Given the description of an element on the screen output the (x, y) to click on. 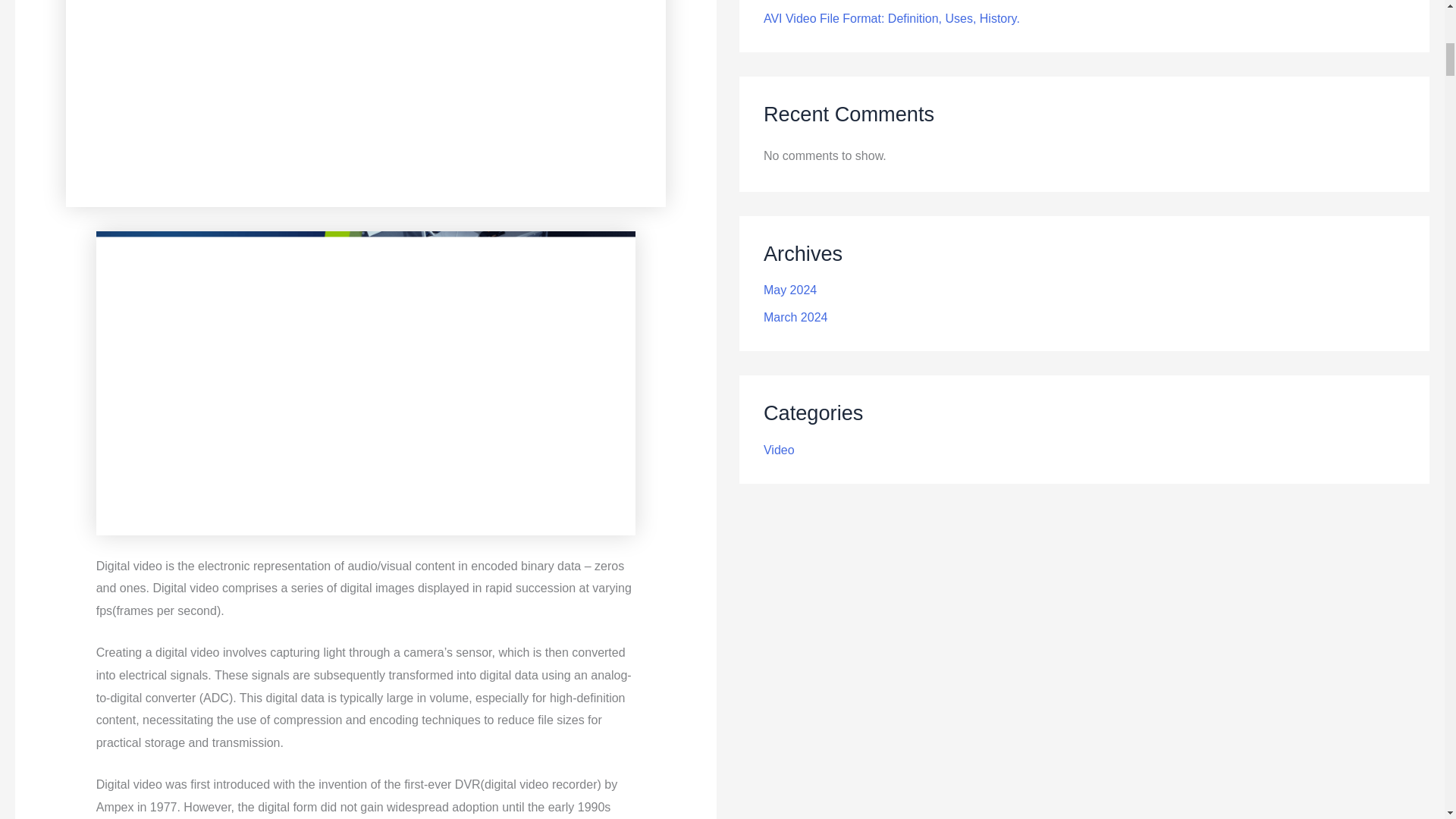
March 2024 (795, 317)
Video (778, 449)
May 2024 (789, 289)
AVI Video File Format: Definition, Uses, History. (891, 18)
